Given the description of an element on the screen output the (x, y) to click on. 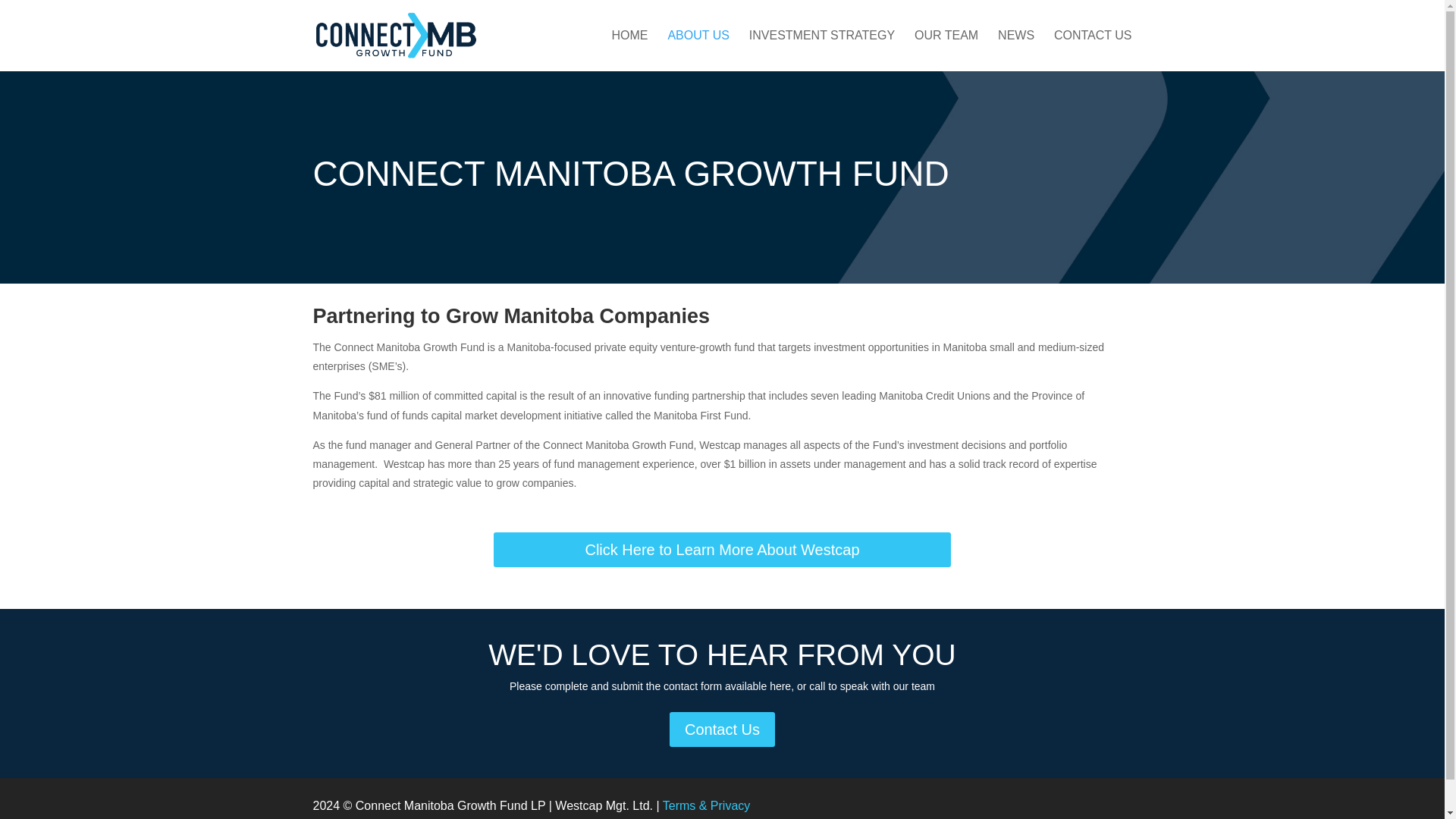
Click Here to Learn More About Westcap (721, 549)
OUR TEAM (946, 50)
CONTACT US (1093, 50)
NEWS (1015, 50)
INVESTMENT STRATEGY (822, 50)
ABOUT US (697, 50)
Contact Us (721, 728)
